Given the description of an element on the screen output the (x, y) to click on. 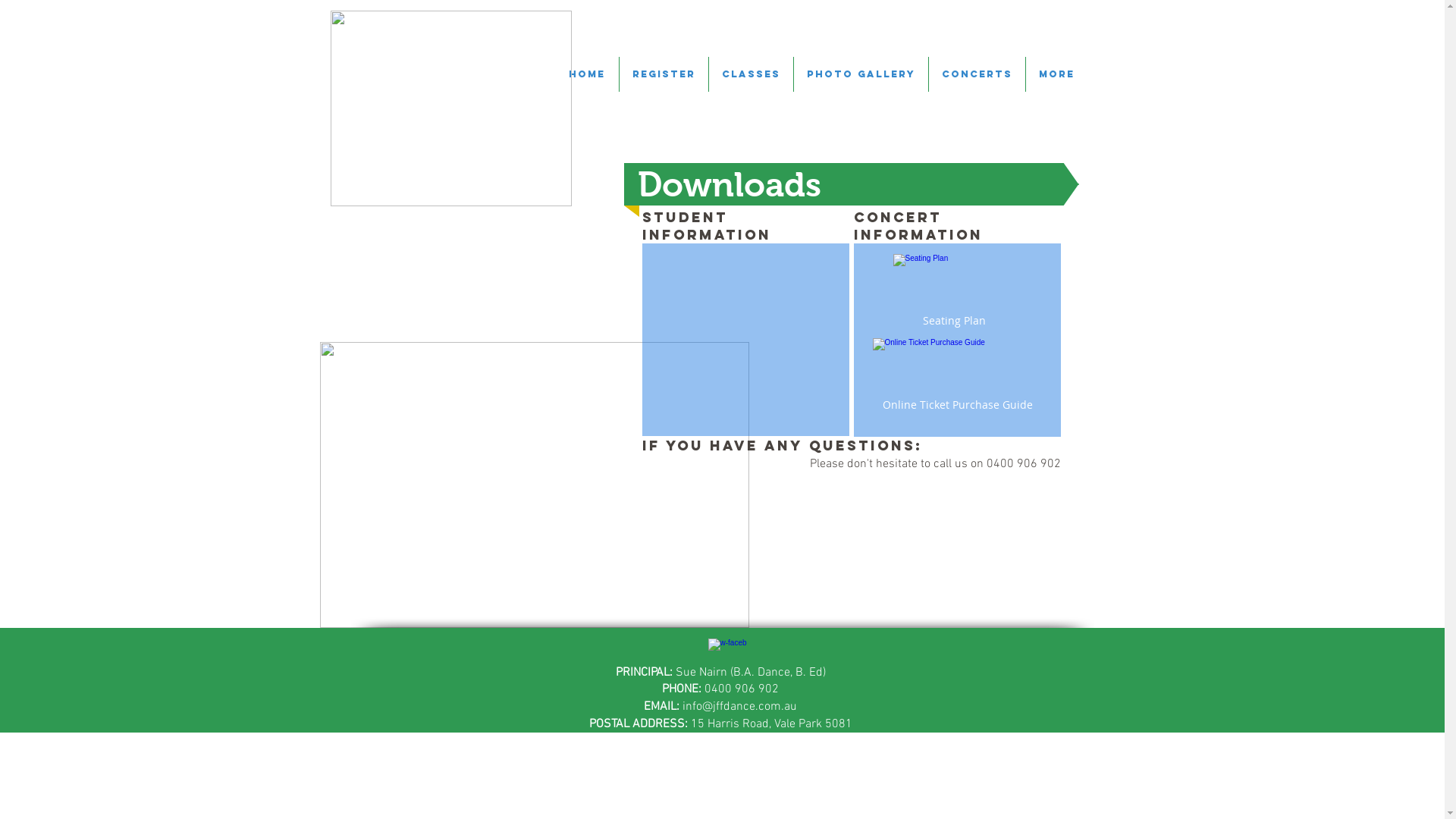
Home Element type: text (586, 73)
Online Ticket Purchase Guide Element type: text (957, 377)
just-for-fun.png Element type: hover (450, 108)
Classes Element type: text (750, 73)
Seating Plan Element type: text (953, 292)
info@jffdance.com.au Element type: text (739, 706)
Register Element type: text (662, 73)
